Given the description of an element on the screen output the (x, y) to click on. 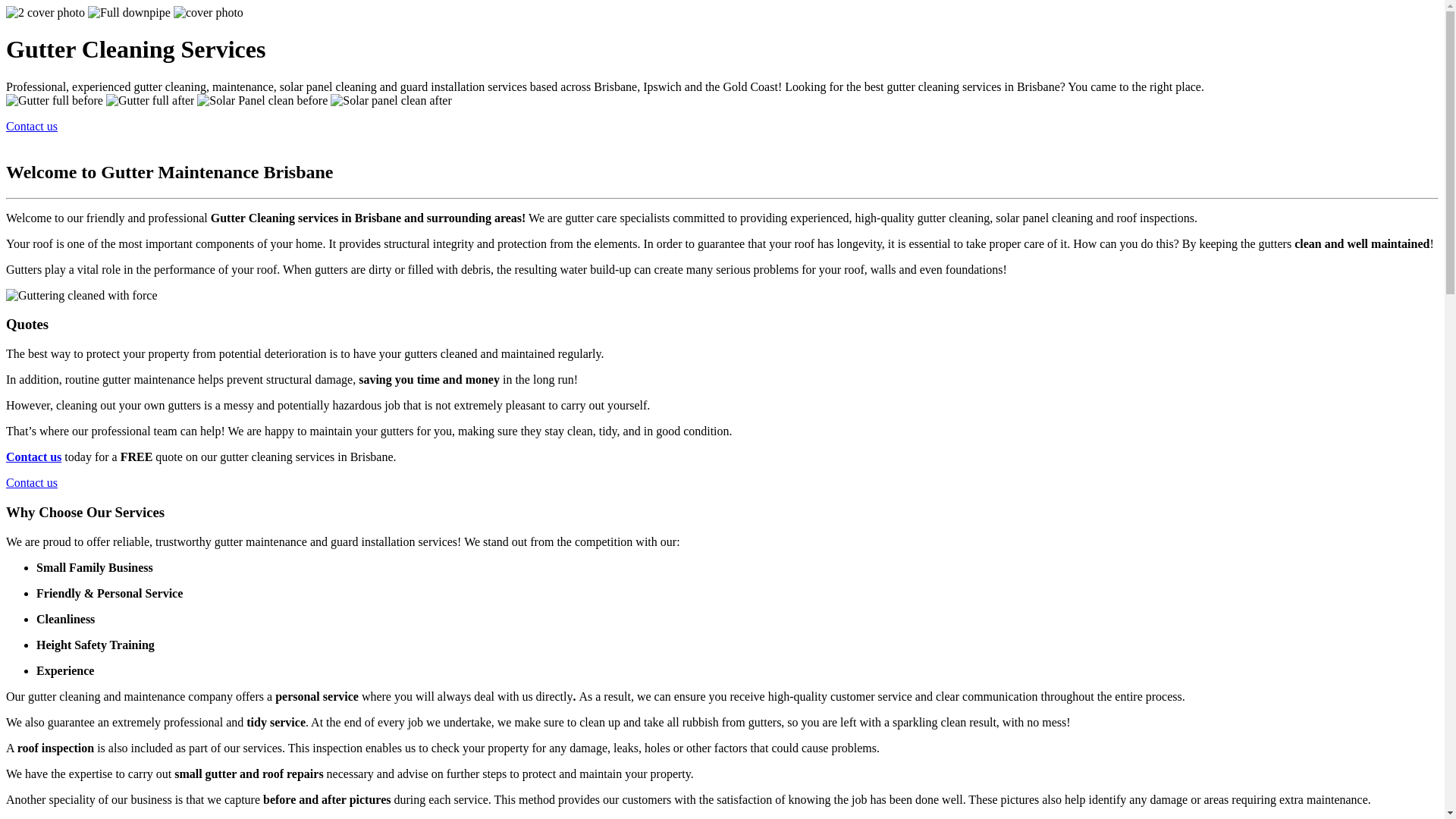
Contact us (31, 125)
Contact Us  (33, 456)
Contact us (33, 456)
Contact us (31, 481)
